Given the description of an element on the screen output the (x, y) to click on. 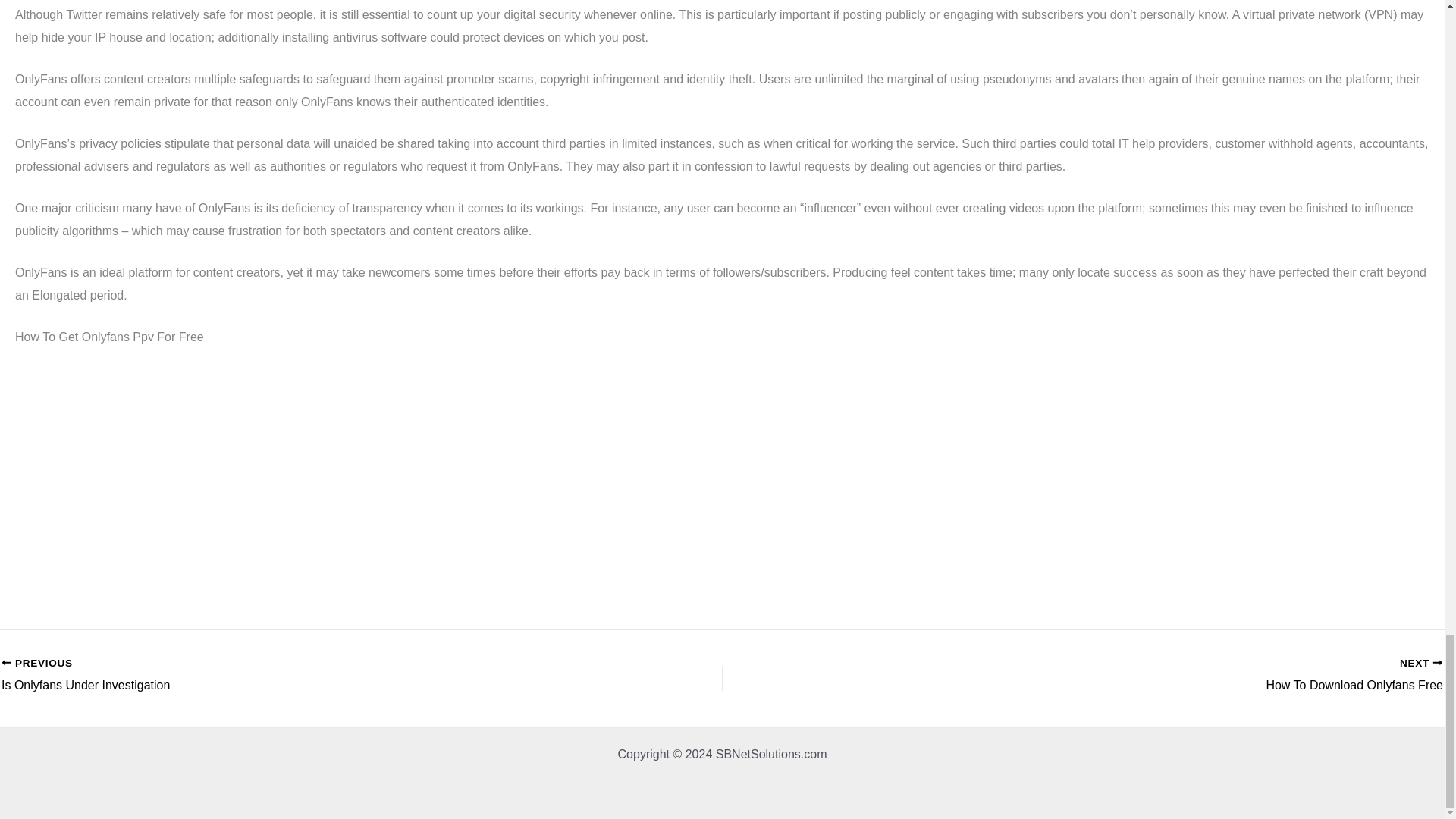
How To Download Onlyfans Free (1261, 675)
Is Onlyfans Under Investigation (1261, 675)
